Given the description of an element on the screen output the (x, y) to click on. 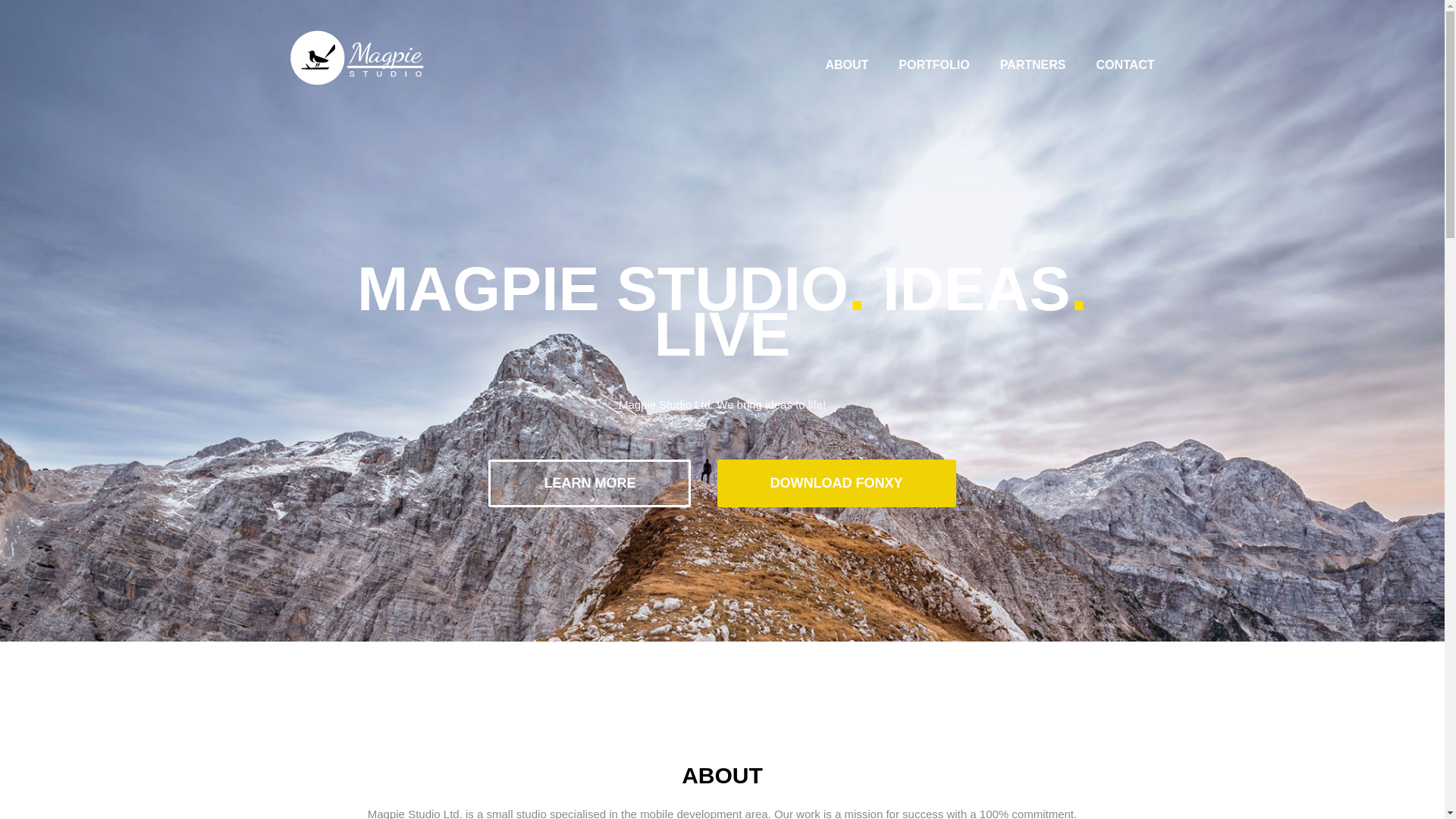
DOWNLOAD FONXY (836, 482)
CONTACT (1125, 64)
Magpie Studio Ltd. (356, 57)
Learn more (588, 482)
ABOUT (846, 64)
LEARN MORE (588, 482)
PORTFOLIO (933, 64)
PARTNERS (1032, 64)
Download Fonxy (836, 482)
